Given the description of an element on the screen output the (x, y) to click on. 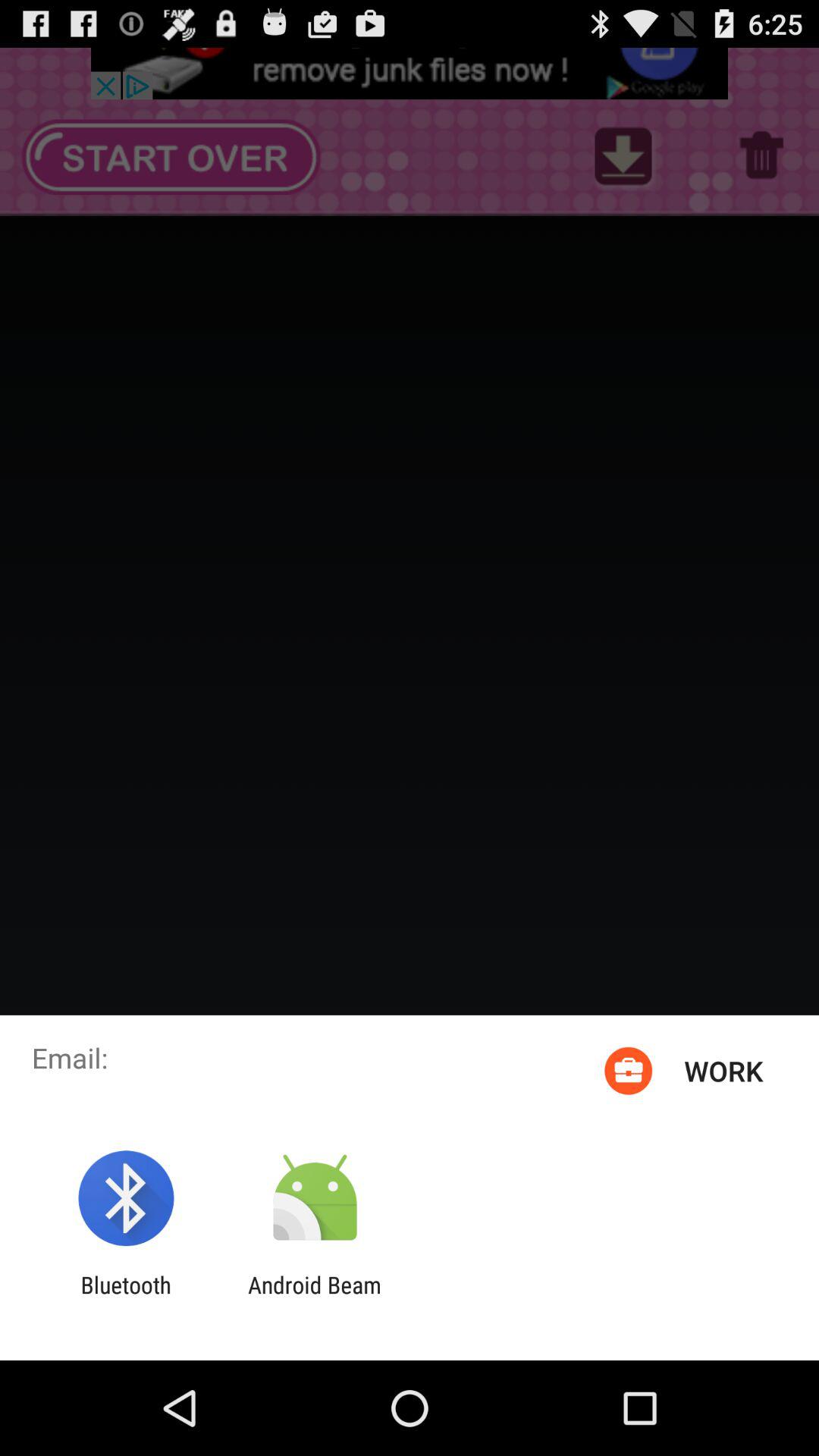
tap app to the left of android beam item (125, 1298)
